Given the description of an element on the screen output the (x, y) to click on. 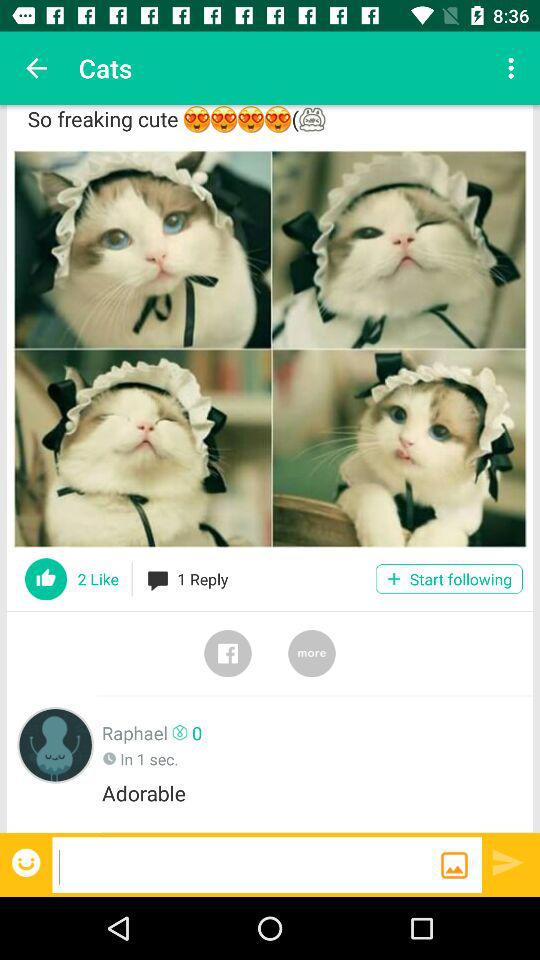
add an image (454, 865)
